Given the description of an element on the screen output the (x, y) to click on. 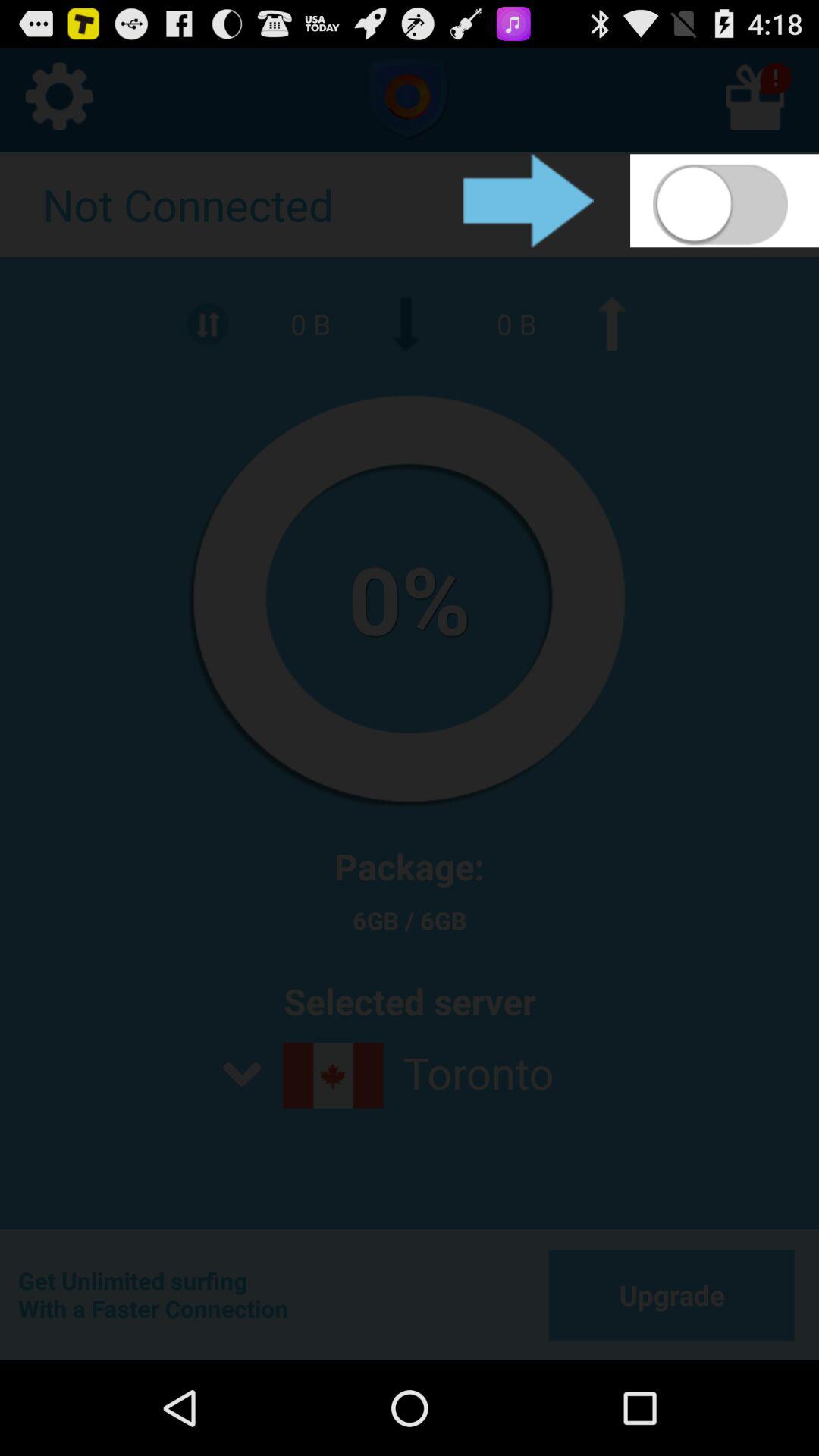
connect to internet (724, 200)
